Given the description of an element on the screen output the (x, y) to click on. 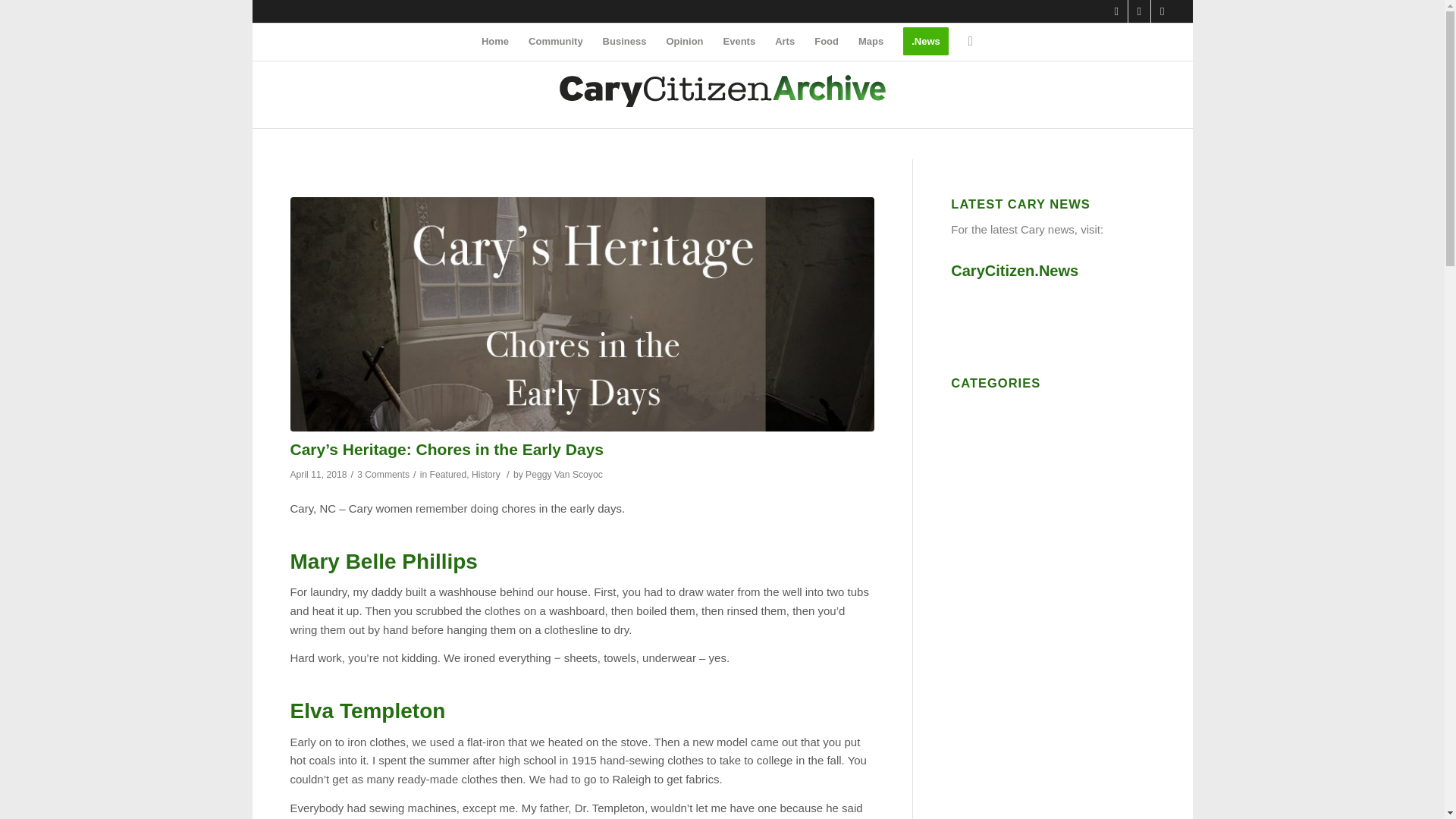
Arts (785, 41)
Featured (448, 474)
Peggy Van Scoyoc (563, 474)
Opinion (684, 41)
3 Comments (382, 474)
Maps (870, 41)
Business (624, 41)
History (485, 474)
Events (739, 41)
Community (555, 41)
